Given the description of an element on the screen output the (x, y) to click on. 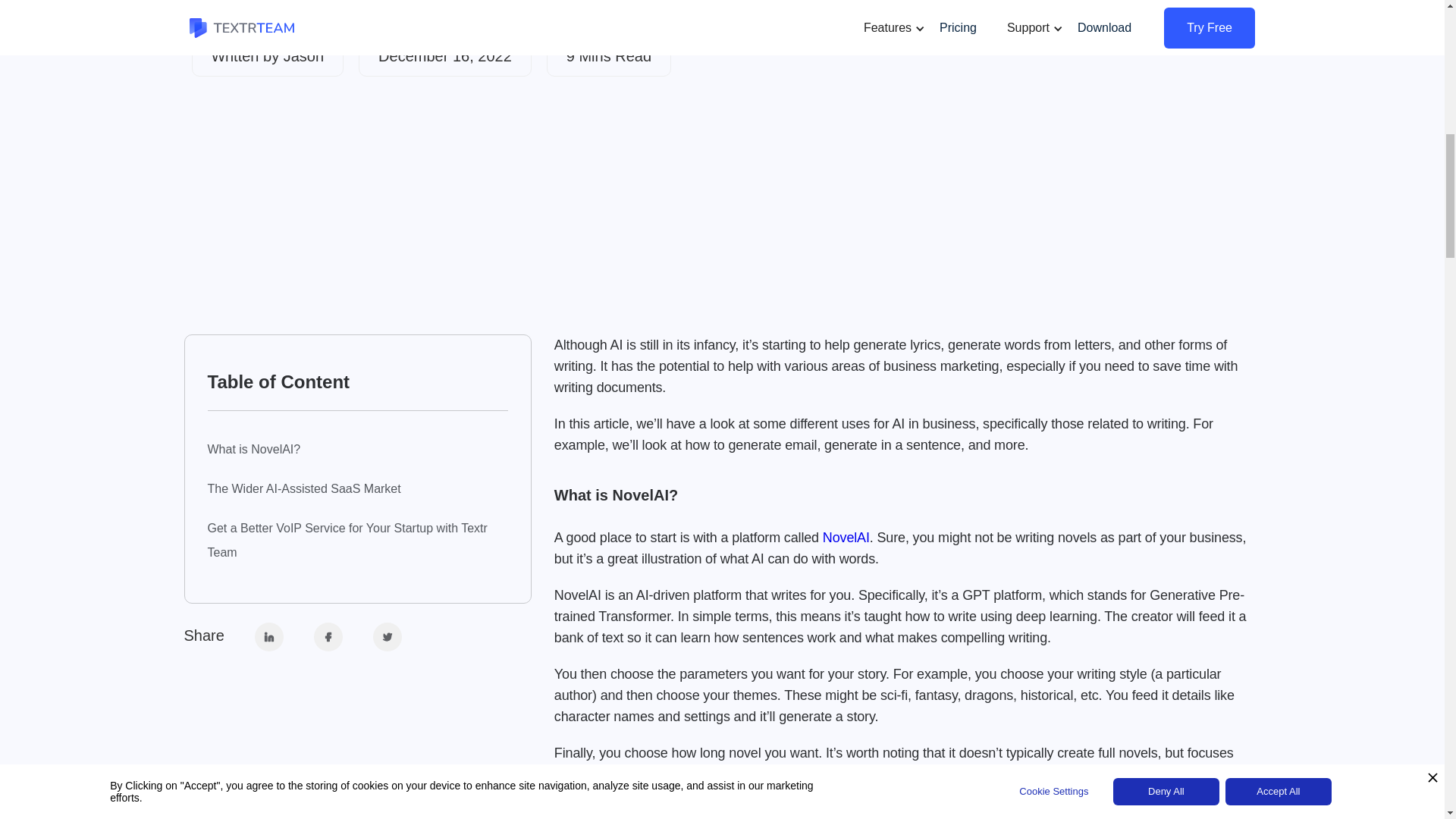
What is NovelAI? (358, 449)
Get a Better VoIP Service for Your Startup with Textr Team (358, 540)
The Wider AI-Assisted SaaS Market (358, 488)
